Given the description of an element on the screen output the (x, y) to click on. 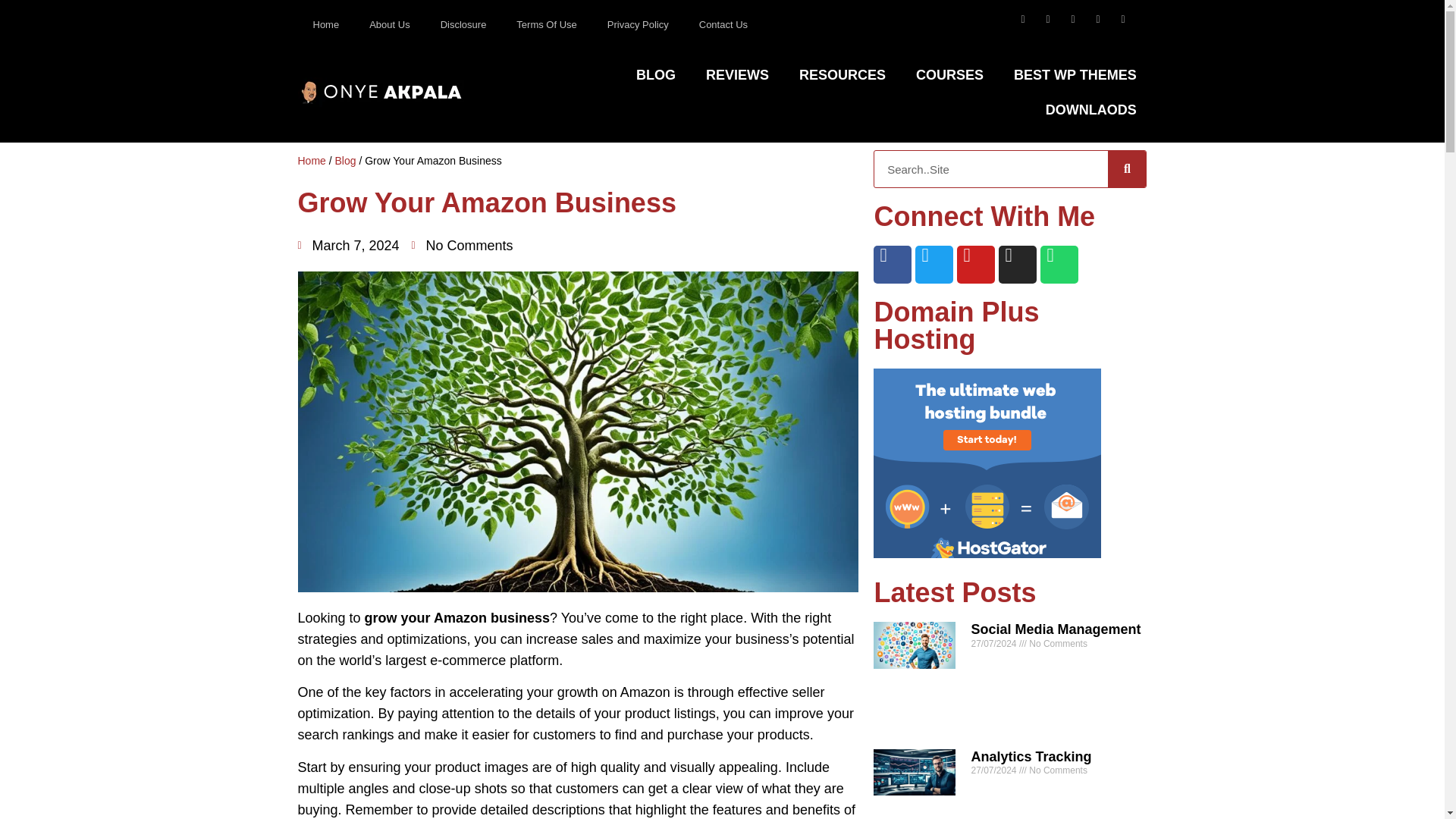
March 7, 2024 (347, 245)
BLOG (655, 74)
Terms Of Use (545, 24)
BEST WP THEMES (1074, 74)
RESOURCES (842, 74)
DOWNLAODS (1090, 109)
Home (325, 24)
Blog (345, 160)
COURSES (949, 74)
Home (310, 160)
